Given the description of an element on the screen output the (x, y) to click on. 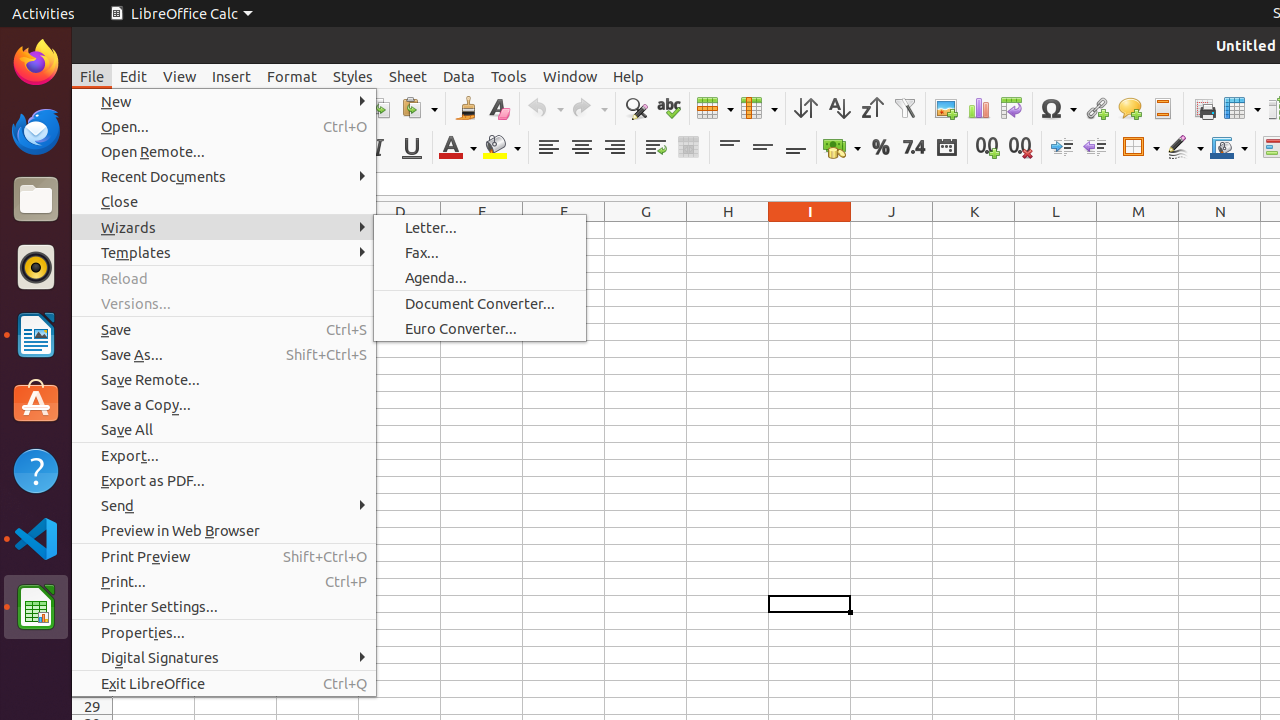
Preview in Web Browser Element type: menu-item (224, 530)
Templates Element type: menu (224, 252)
Sort Ascending Element type: push-button (838, 108)
View Element type: menu (179, 76)
Borders (Shift to overwrite) Element type: push-button (1141, 147)
